Given the description of an element on the screen output the (x, y) to click on. 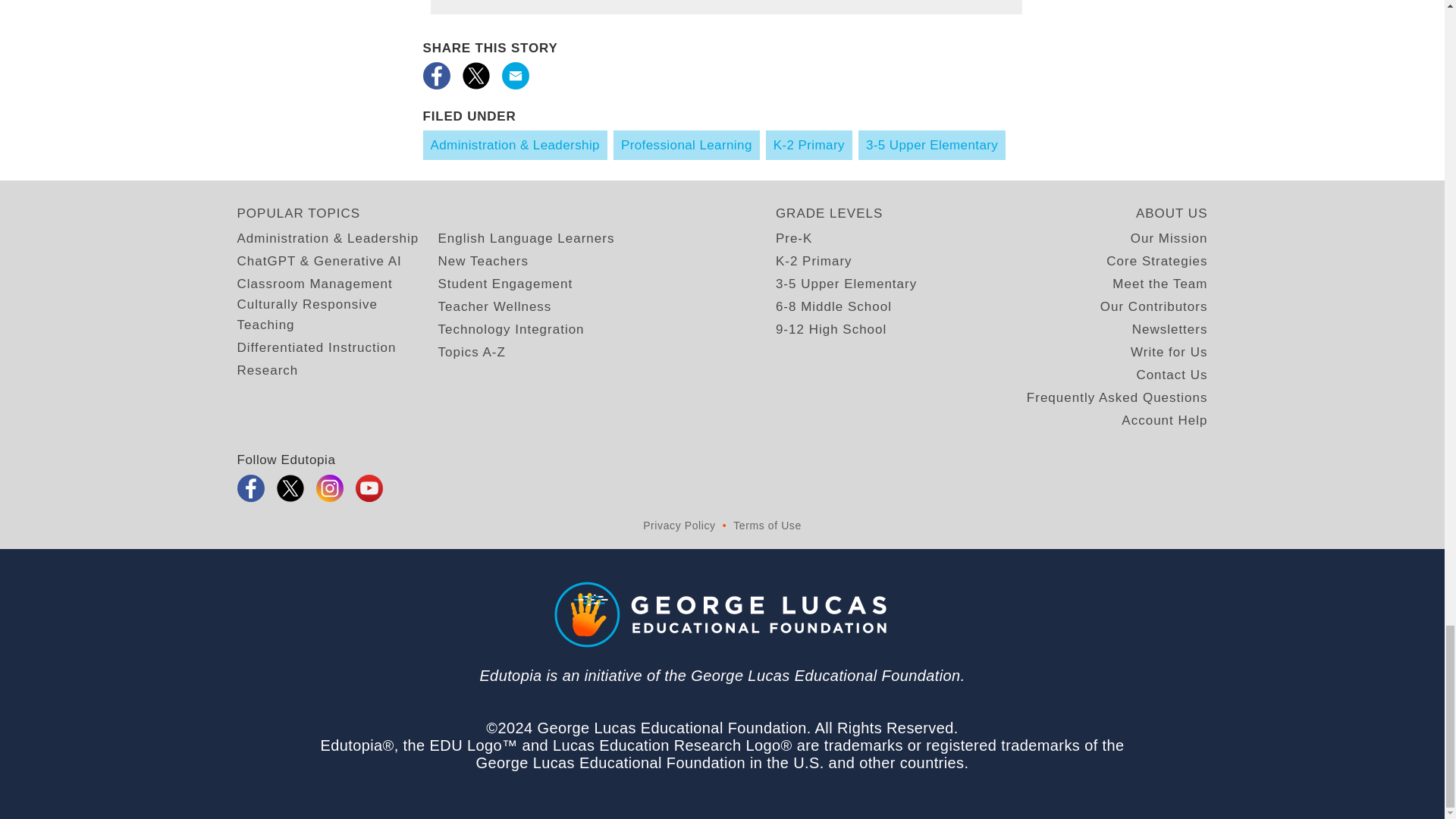
Classroom Management (313, 283)
Differentiated Instruction (315, 347)
Culturally Responsive Teaching (336, 314)
3-5 Upper Elementary (932, 144)
New Teachers (483, 260)
Professional Learning (686, 144)
K-2 Primary (808, 144)
English Language Learners (526, 238)
Research (266, 370)
